Given the description of an element on the screen output the (x, y) to click on. 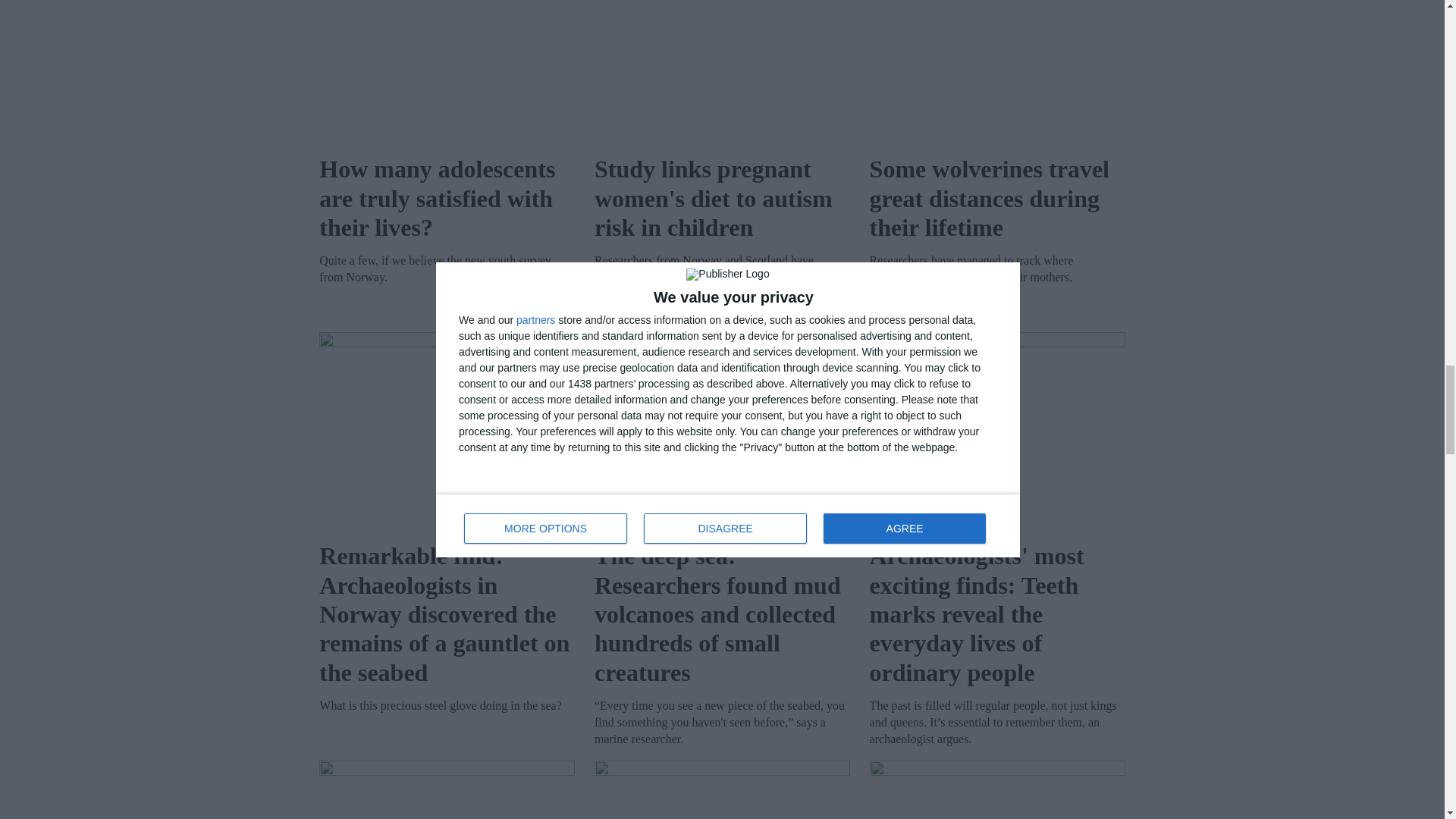
Study links pregnant women's diet to autism risk in children (722, 71)
Some wolverines travel great distances during their lifetime (997, 71)
How many adolescents are truly satisfied with their lives? (446, 71)
